Given the description of an element on the screen output the (x, y) to click on. 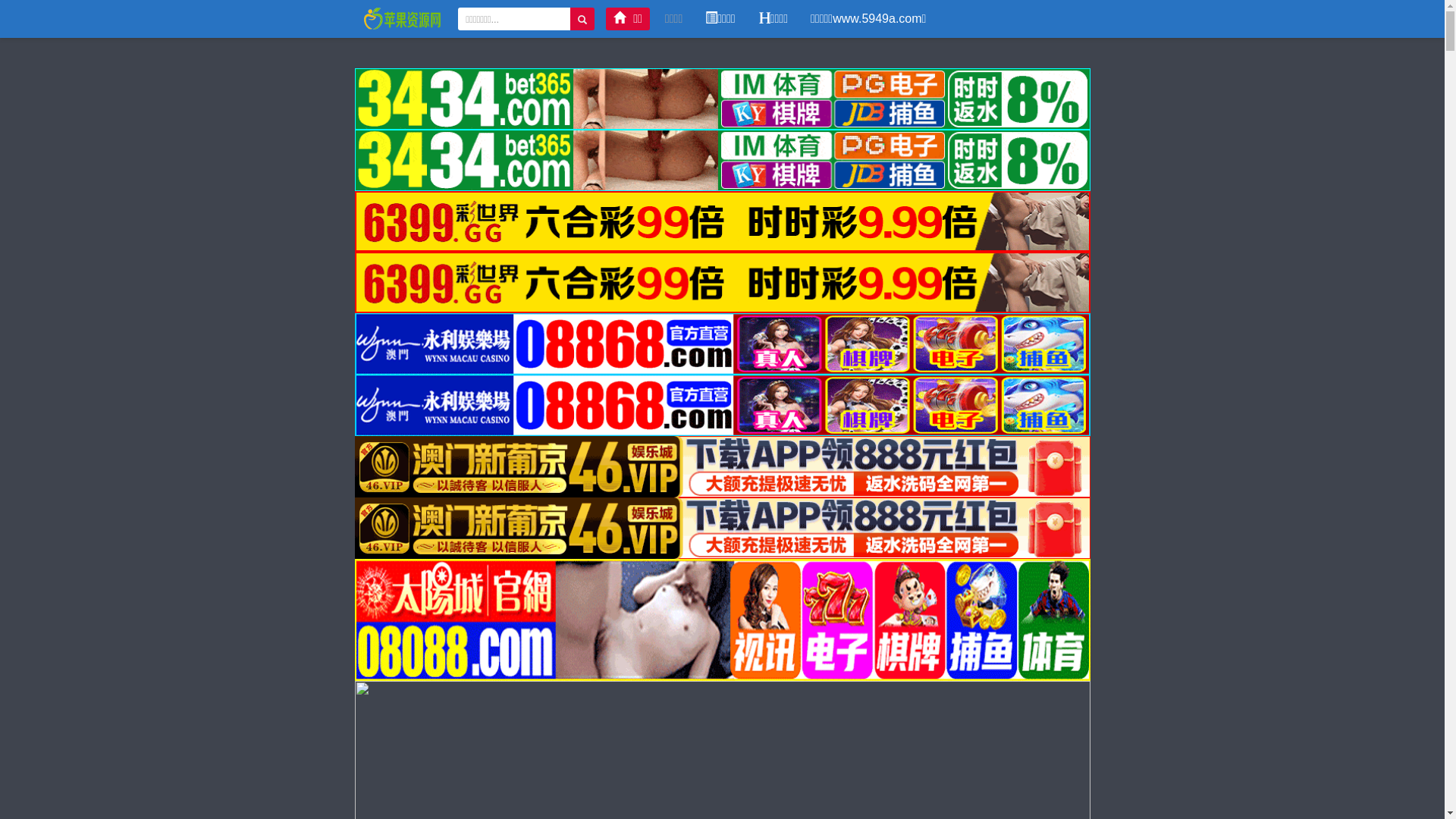
www.5949a.com Element type: hover (402, 18)
